Given the description of an element on the screen output the (x, y) to click on. 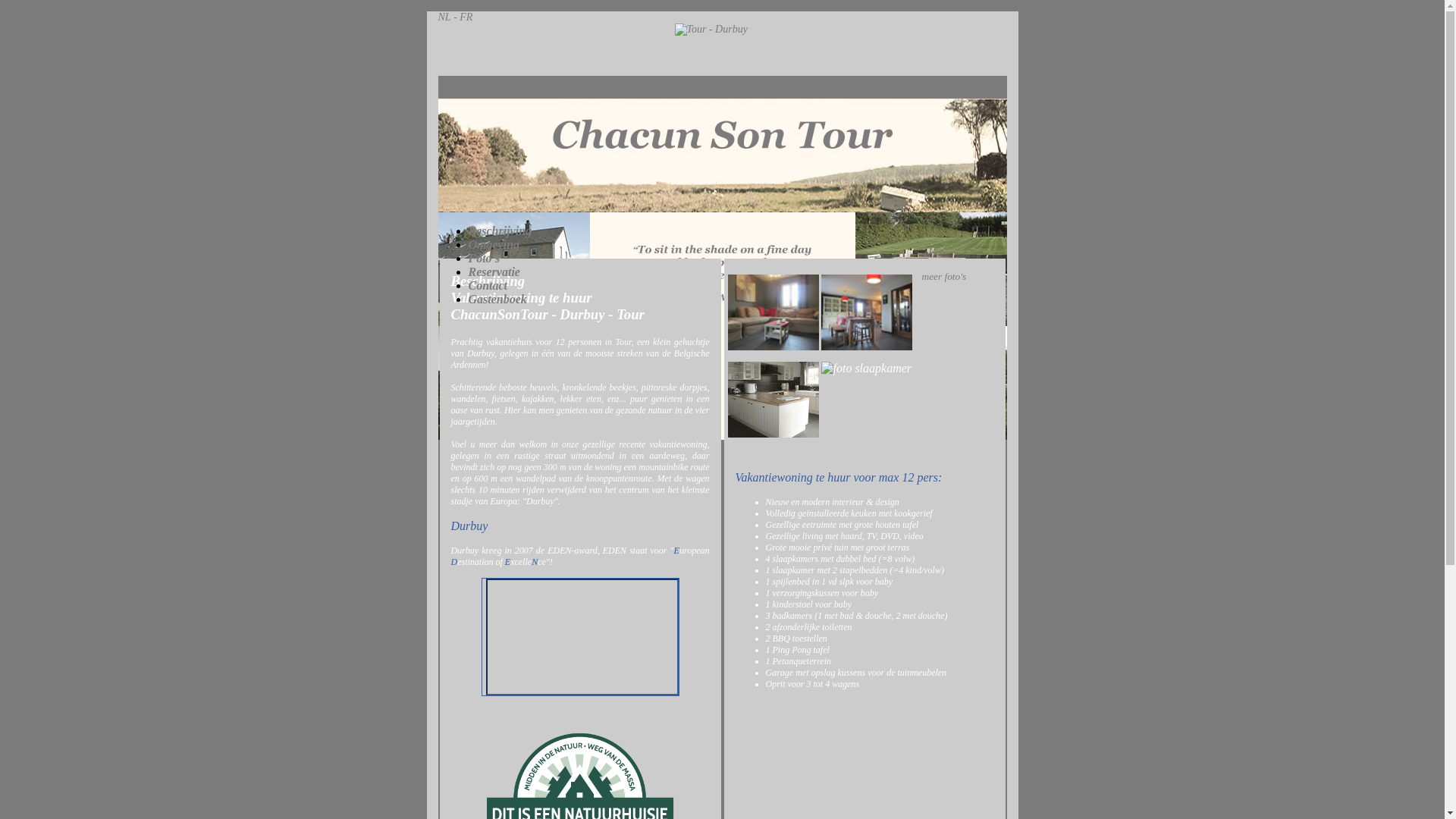
Omgeving Element type: text (494, 244)
Reservatie Element type: text (494, 271)
Contact Element type: text (488, 285)
FR Element type: text (465, 16)
meer foto's Element type: text (944, 276)
NL Element type: text (444, 16)
Foto's Element type: text (484, 257)
Gastenboek Element type: text (497, 298)
Beschrijving Element type: text (500, 230)
